Given the description of an element on the screen output the (x, y) to click on. 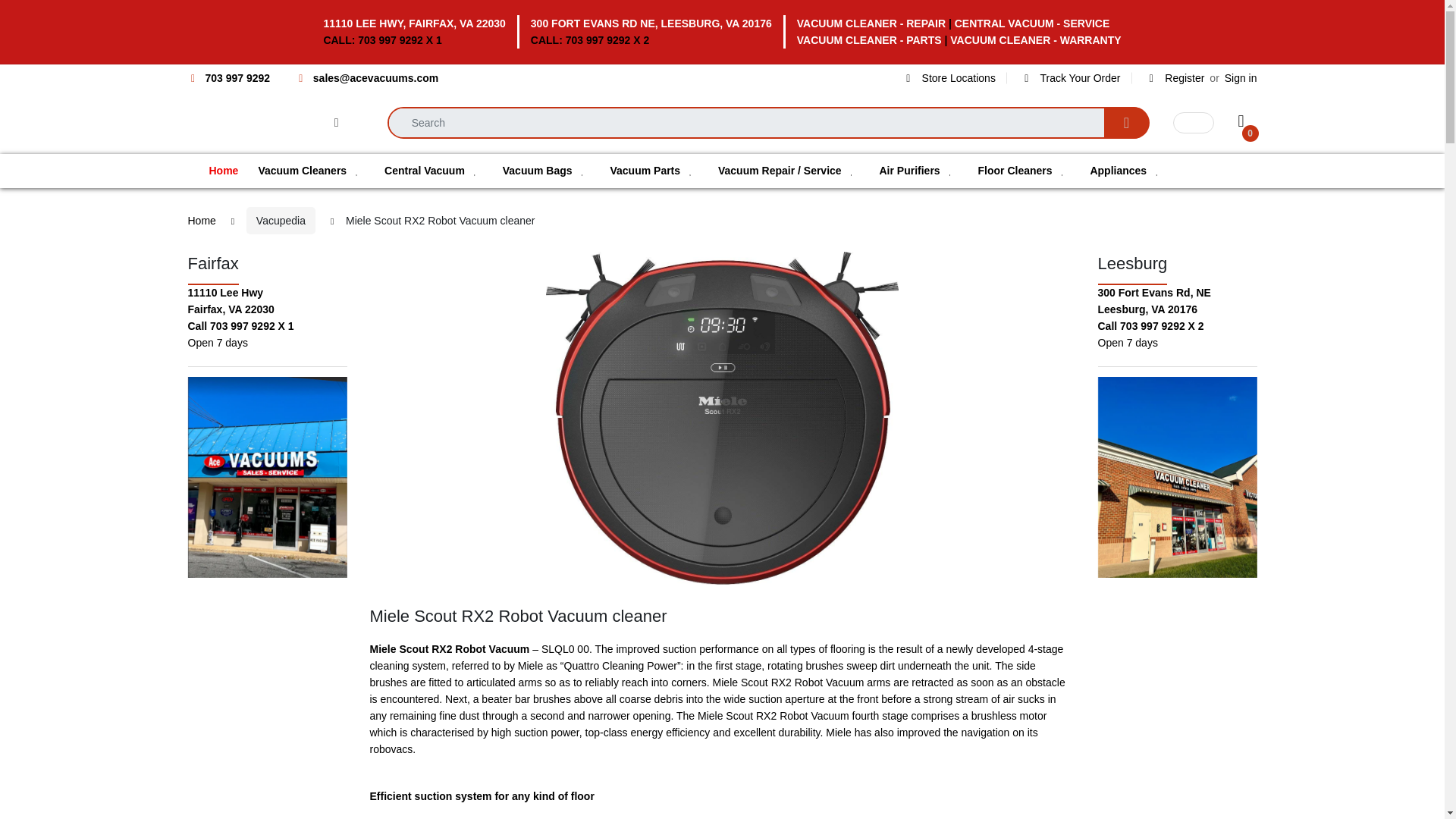
300 FORT EVANS RD NE, LEESBURG, VA 20176 (651, 23)
Store Locations (948, 78)
CENTRAL VACUUM - SERVICE (1032, 23)
VACUUM CLEANER - WARRANTY (1035, 39)
Register (1176, 78)
VACUUM CLEANER - PARTS (869, 39)
Track Your Order (1071, 78)
Sign in (1240, 78)
Acevacuums (223, 122)
11110 LEE HWY, FAIRFAX, VA 22030 (414, 23)
Sign in (1240, 78)
VACUUM CLEANER - REPAIR (870, 23)
Register (1176, 78)
